Given the description of an element on the screen output the (x, y) to click on. 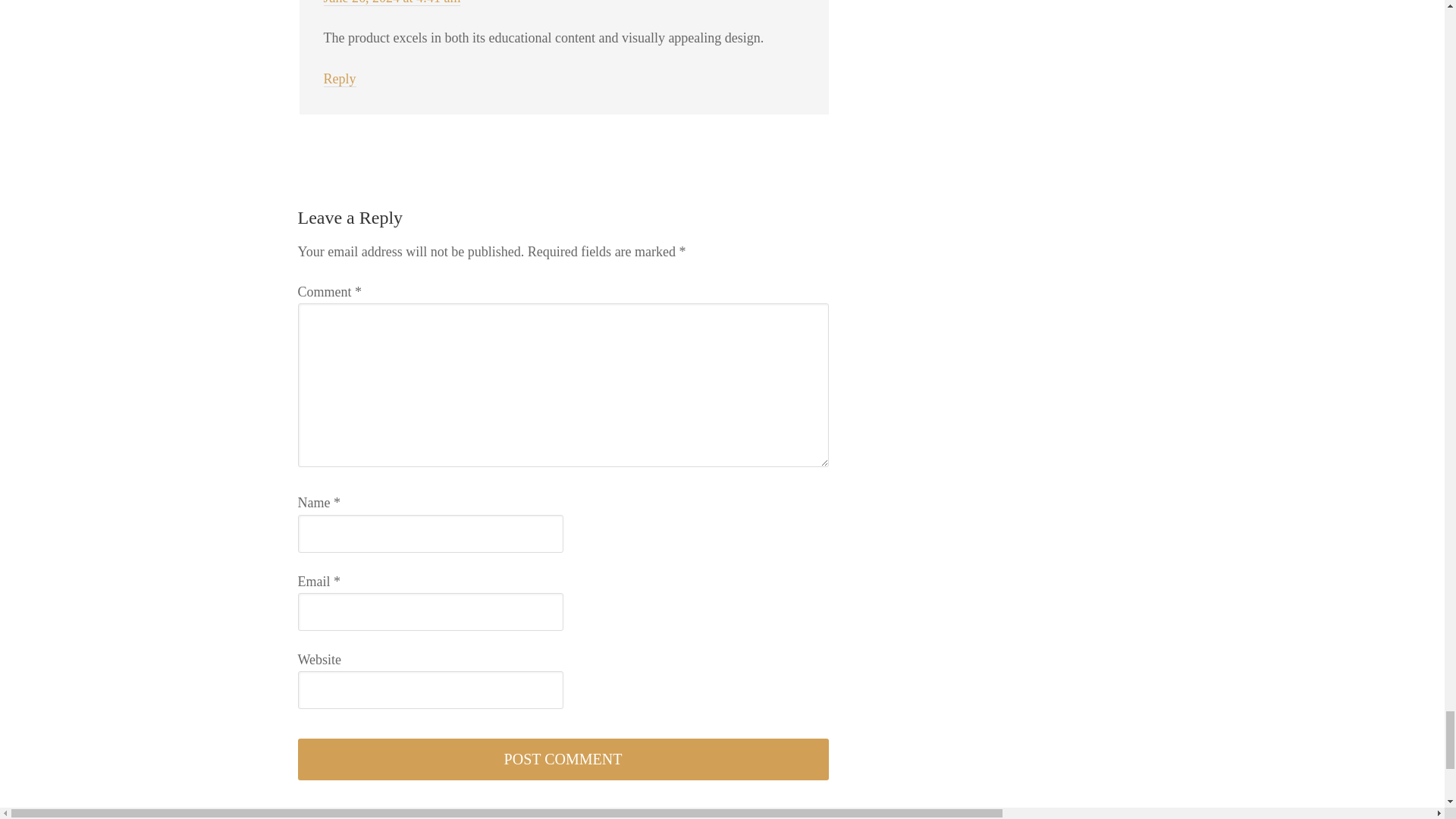
Post Comment (562, 759)
